Given the description of an element on the screen output the (x, y) to click on. 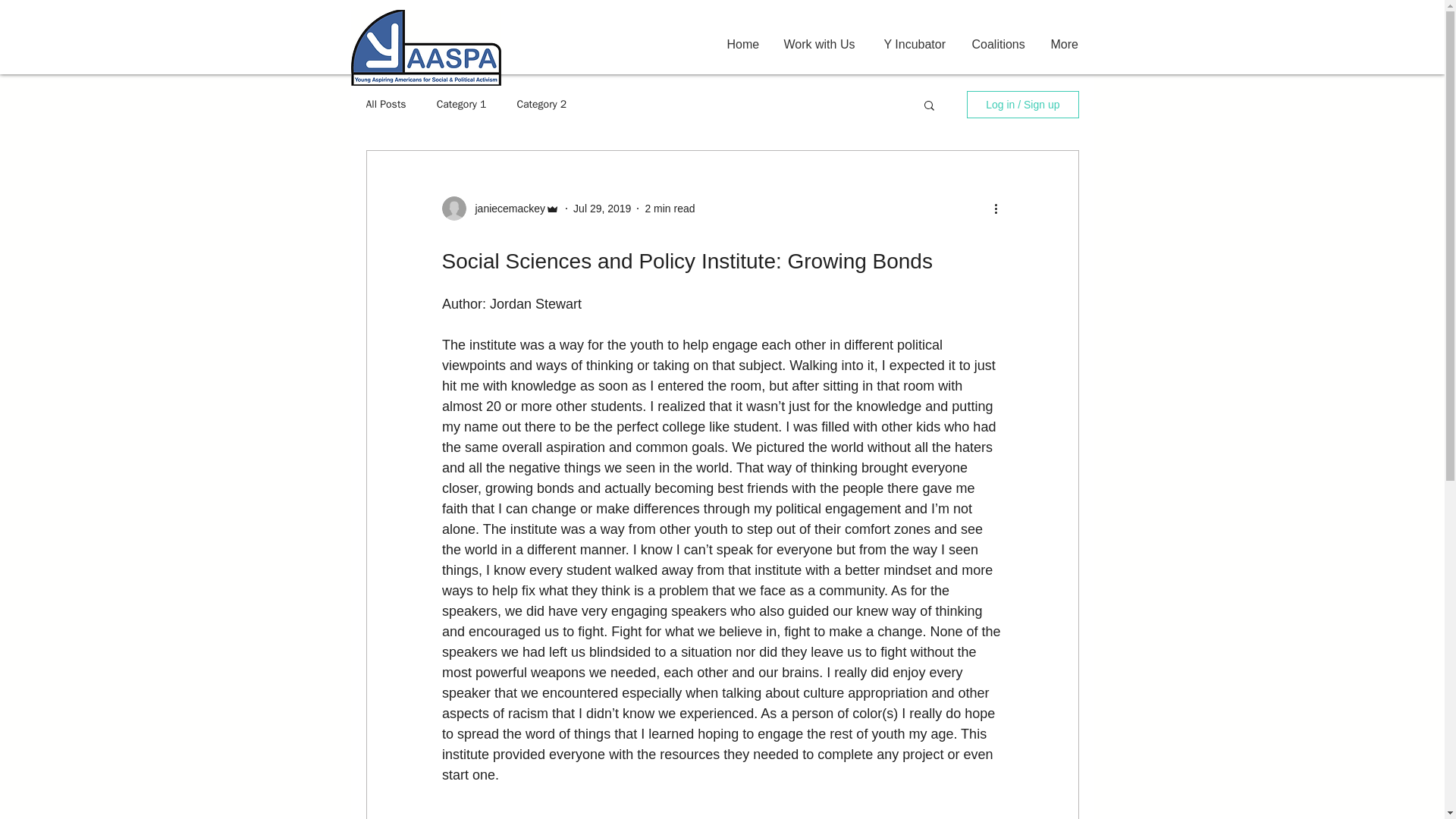
Y Incubator (915, 44)
2 min read (669, 207)
janiecemackey (504, 207)
Category 2 (541, 104)
Home (744, 44)
Work with Us (821, 44)
Jul 29, 2019 (601, 207)
Category 1 (461, 104)
Coalitions (999, 44)
All Posts (385, 104)
